Given the description of an element on the screen output the (x, y) to click on. 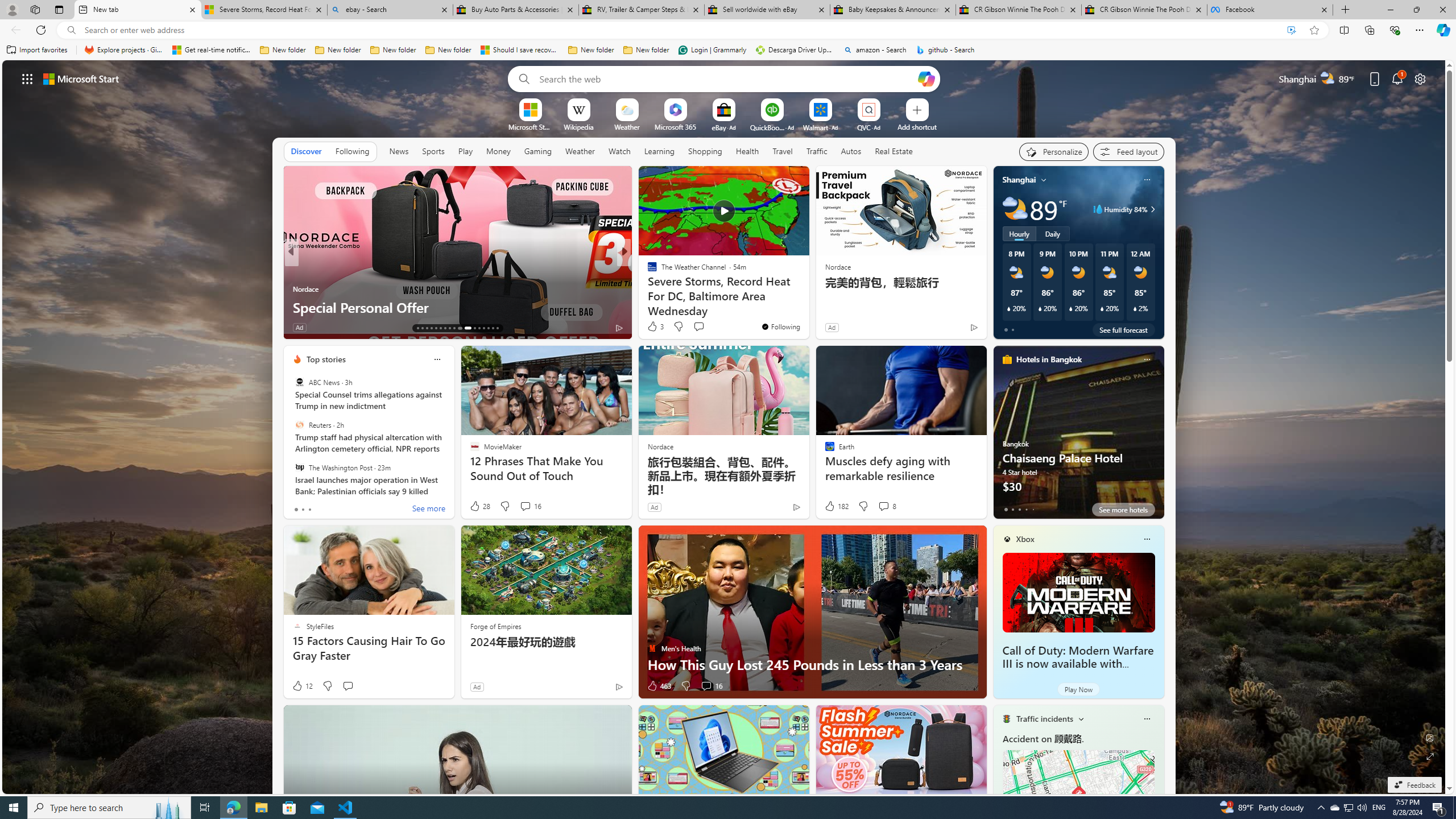
Class: weather-arrow-glyph (1152, 208)
AutomationID: tab-14 (422, 328)
99 Like (652, 327)
Should I save recovered Word documents? - Microsoft Support (519, 49)
Microsoft start (81, 78)
182 Like (835, 505)
News (398, 151)
Forge of Empires (495, 625)
Workspaces (34, 9)
Athletes That Died Far Too Young (807, 307)
Play Now (1078, 689)
Ad Choice (619, 686)
